Given the description of an element on the screen output the (x, y) to click on. 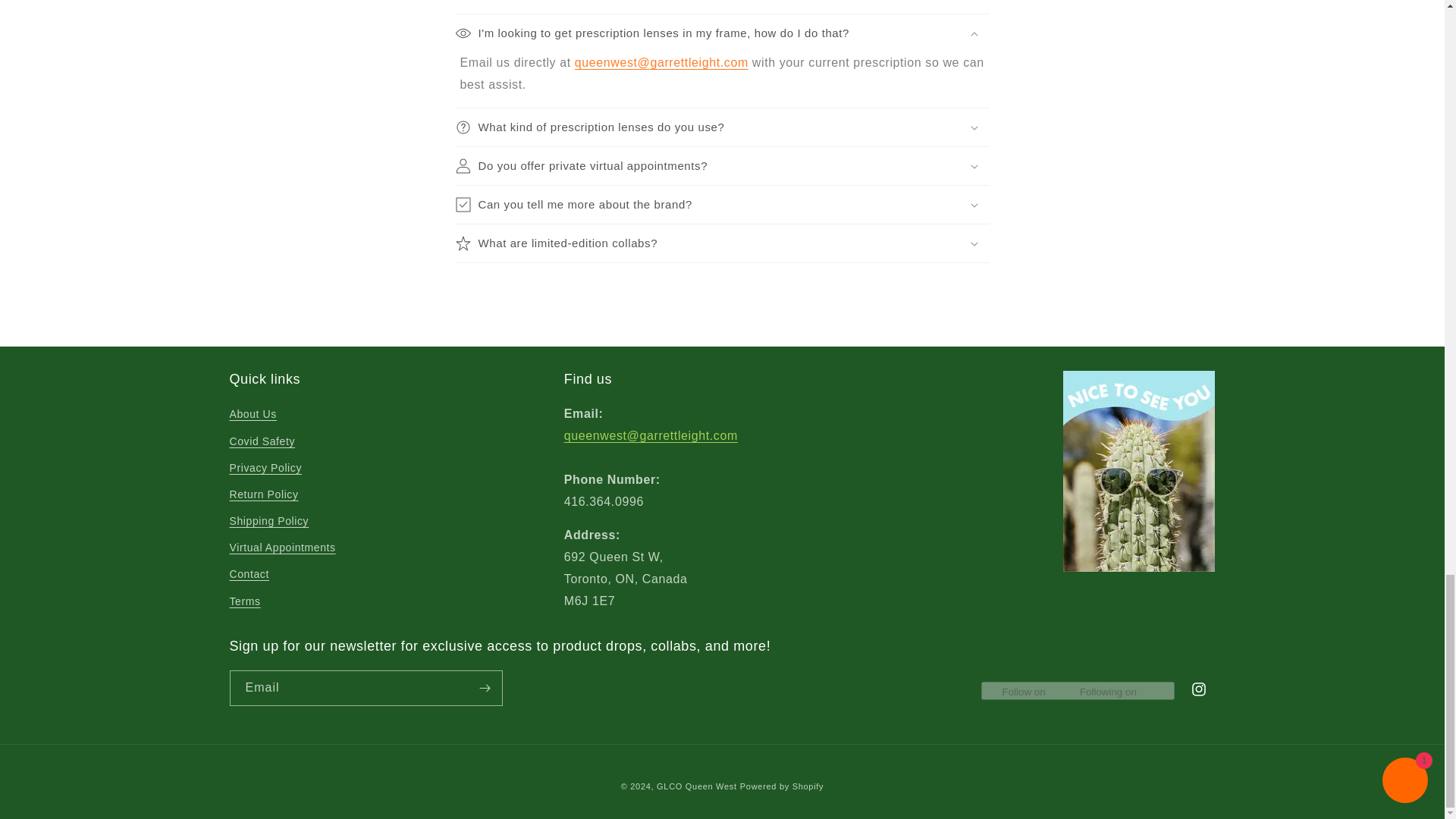
Email us (651, 446)
